Given the description of an element on the screen output the (x, y) to click on. 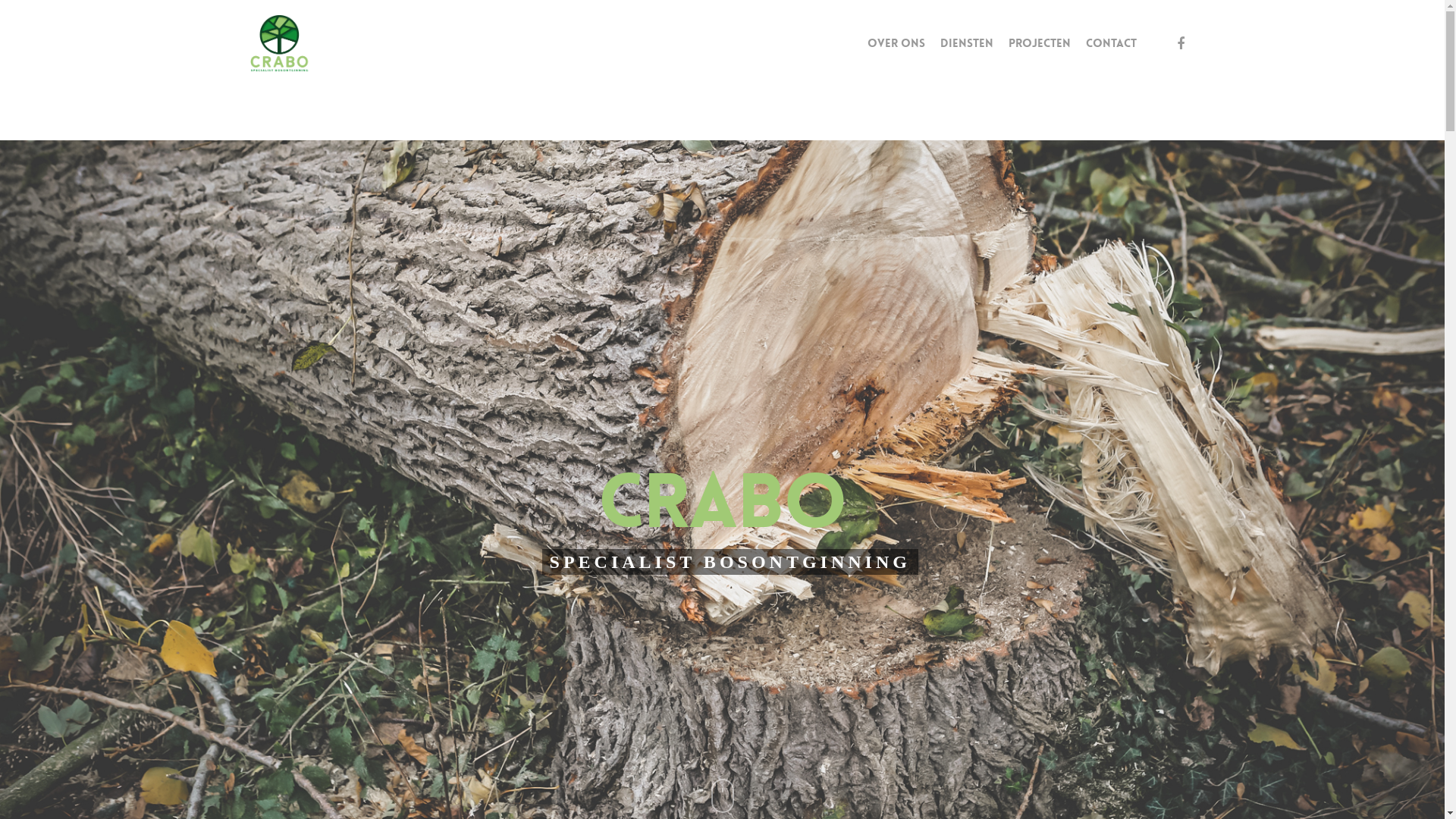
DIENSTEN Element type: text (966, 43)
CONTACT Element type: text (1110, 43)
PROJECTEN Element type: text (1039, 43)
OVER ONS Element type: text (896, 43)
